Given the description of an element on the screen output the (x, y) to click on. 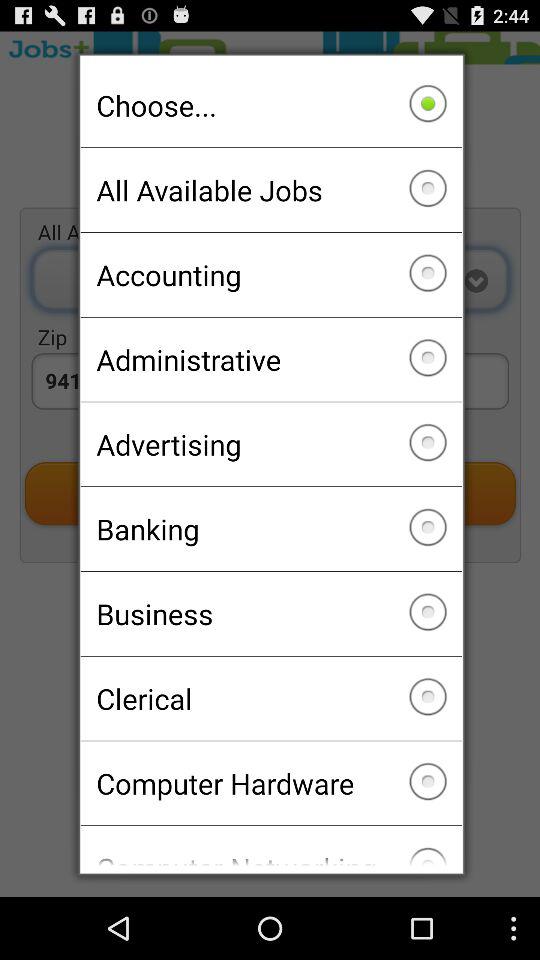
turn on the icon above all available jobs icon (270, 105)
